Given the description of an element on the screen output the (x, y) to click on. 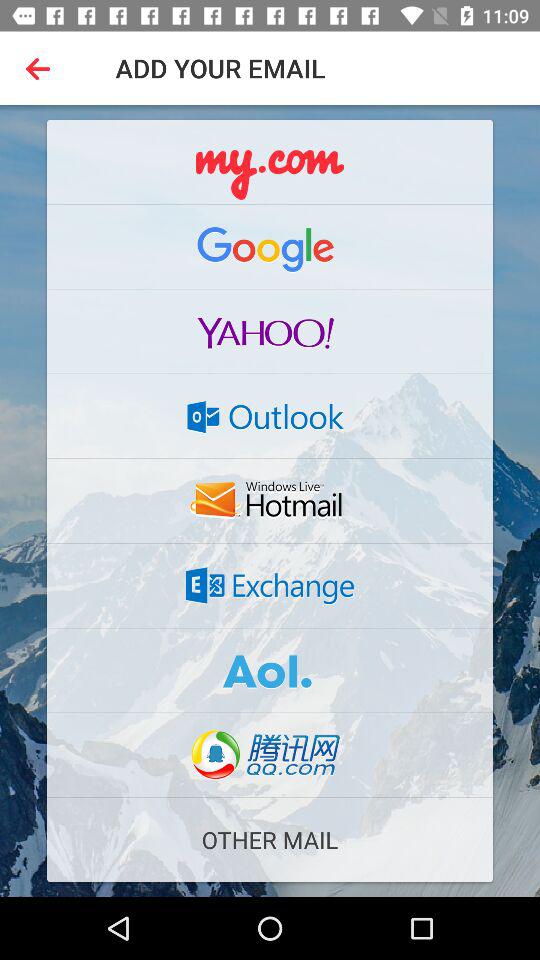
open webpage (269, 331)
